Given the description of an element on the screen output the (x, y) to click on. 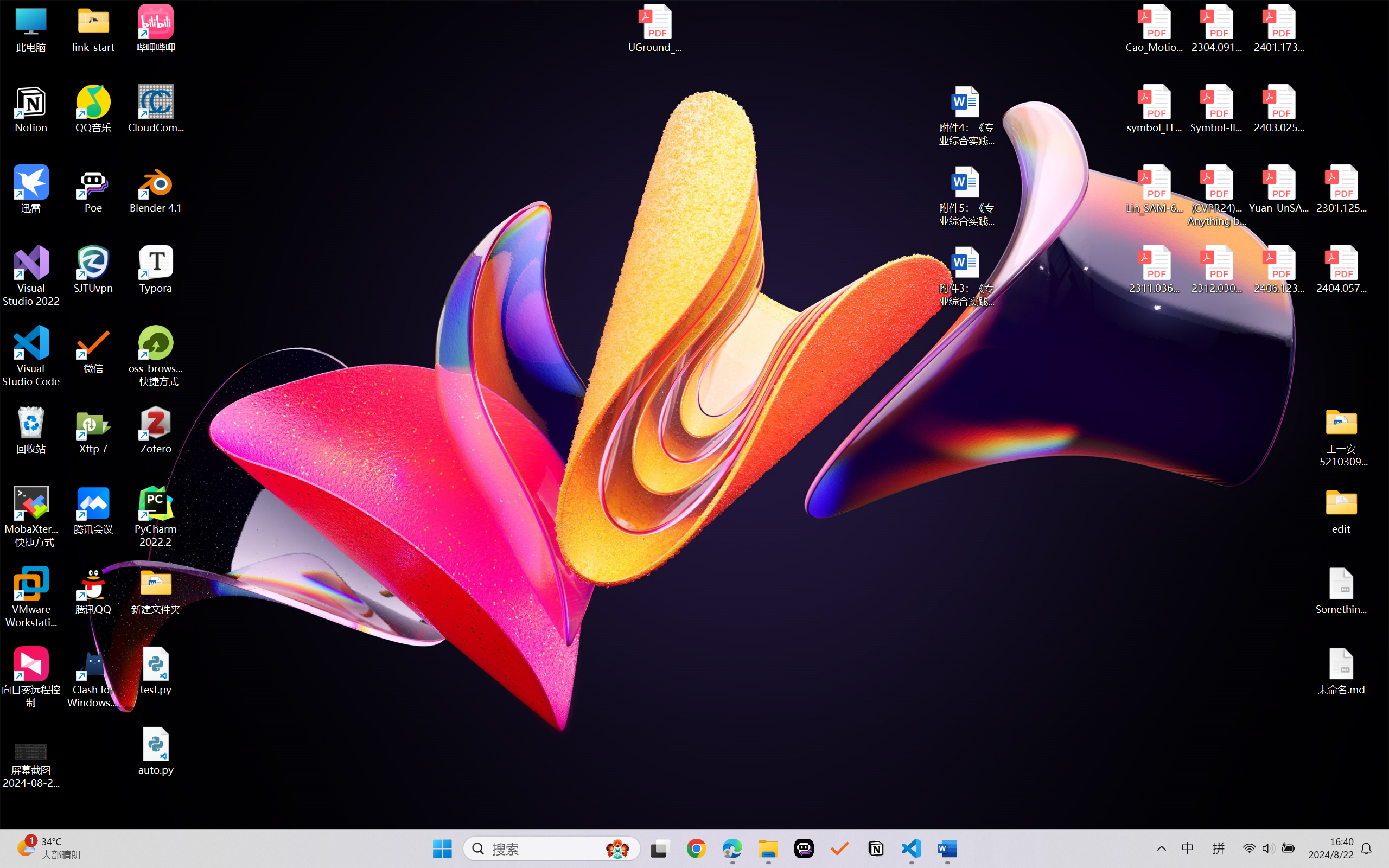
Notion (31, 109)
Poe (93, 189)
VMware Workstation Pro (31, 597)
Blender 4.1 (156, 189)
auto.py (156, 751)
SJTUvpn (93, 269)
Poe (804, 848)
Typora (156, 269)
